Given the description of an element on the screen output the (x, y) to click on. 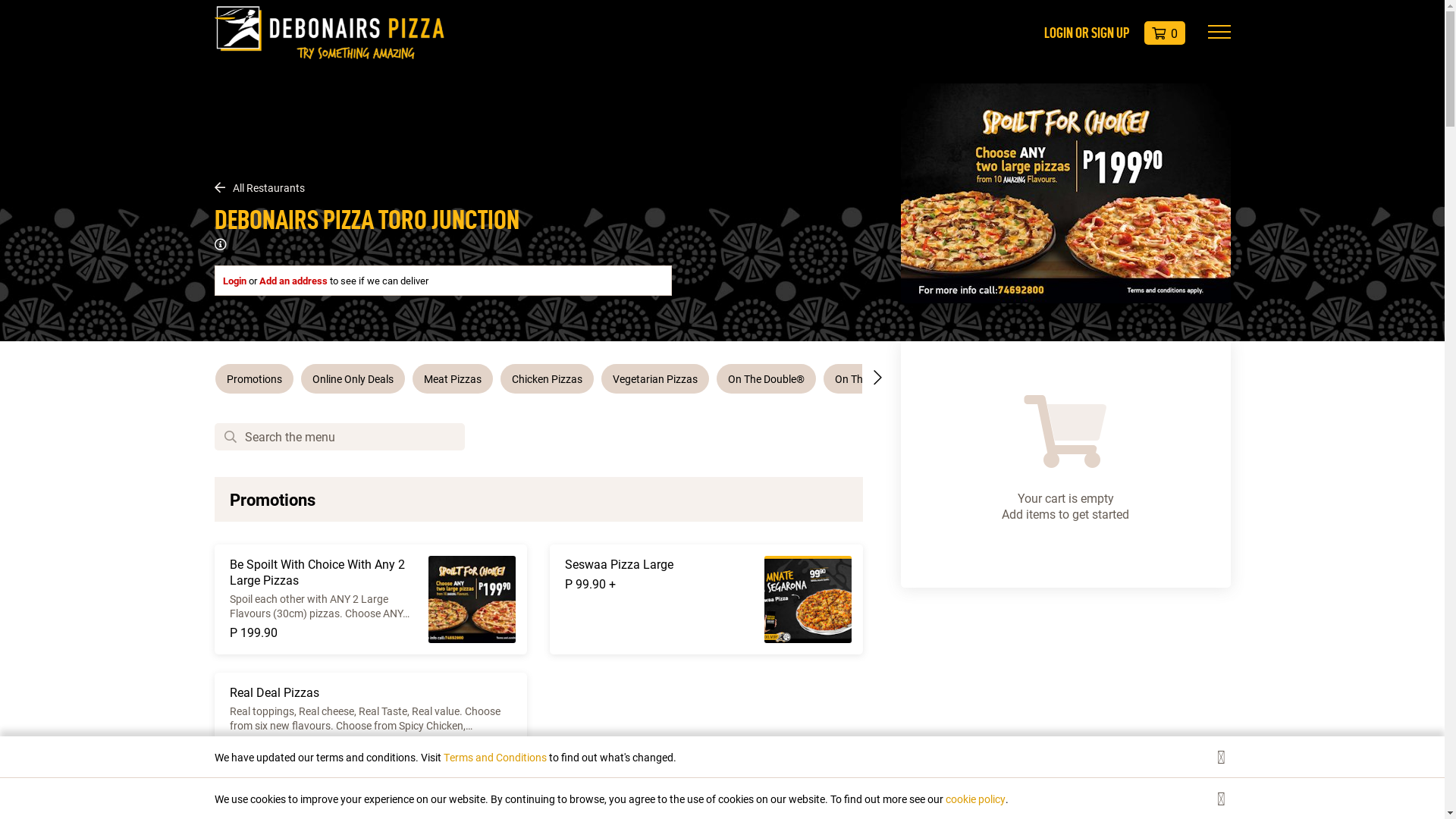
All Restaurants Element type: text (442, 187)
Login or  Element type: text (240, 280)
LOGIN OR SIGN UP Element type: text (1085, 32)
0 Element type: text (1163, 32)
Terms and Conditions Element type: text (495, 756)
cookie policy Element type: text (974, 798)
Add an address to see if we can deliver Element type: text (343, 280)
